Given the description of an element on the screen output the (x, y) to click on. 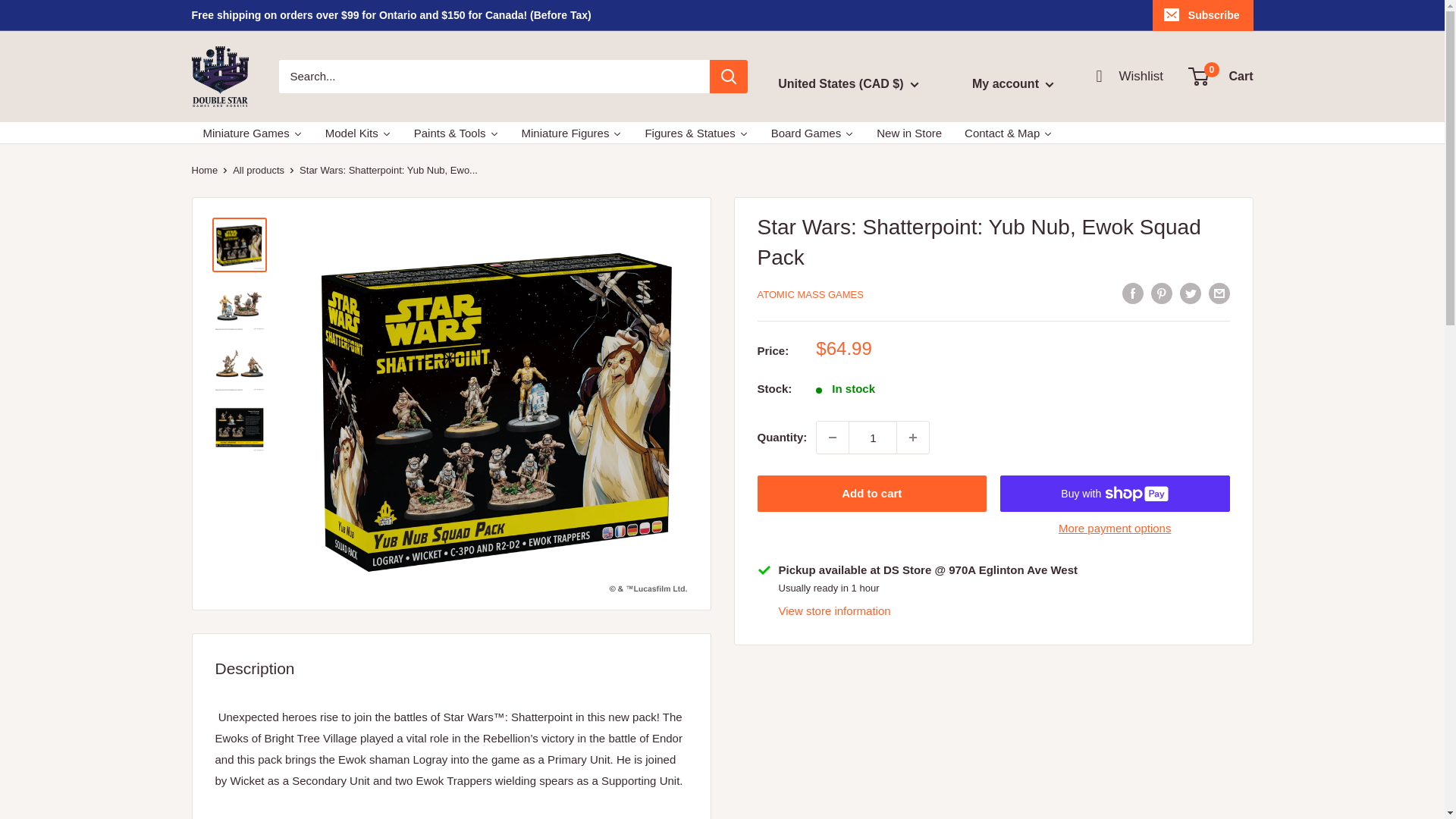
Miniature Games (251, 132)
CA (871, 123)
Board Games (813, 132)
Miniature Figures (572, 132)
My account (1220, 76)
Wishlist (1013, 83)
Miniature Figures (1129, 75)
Model Kits (572, 132)
US (358, 132)
Miniature Games (871, 145)
Model Kits (251, 132)
Decrease quantity by 1 (358, 132)
Double Star Games And Hobbies (832, 437)
1 (218, 76)
